Given the description of an element on the screen output the (x, y) to click on. 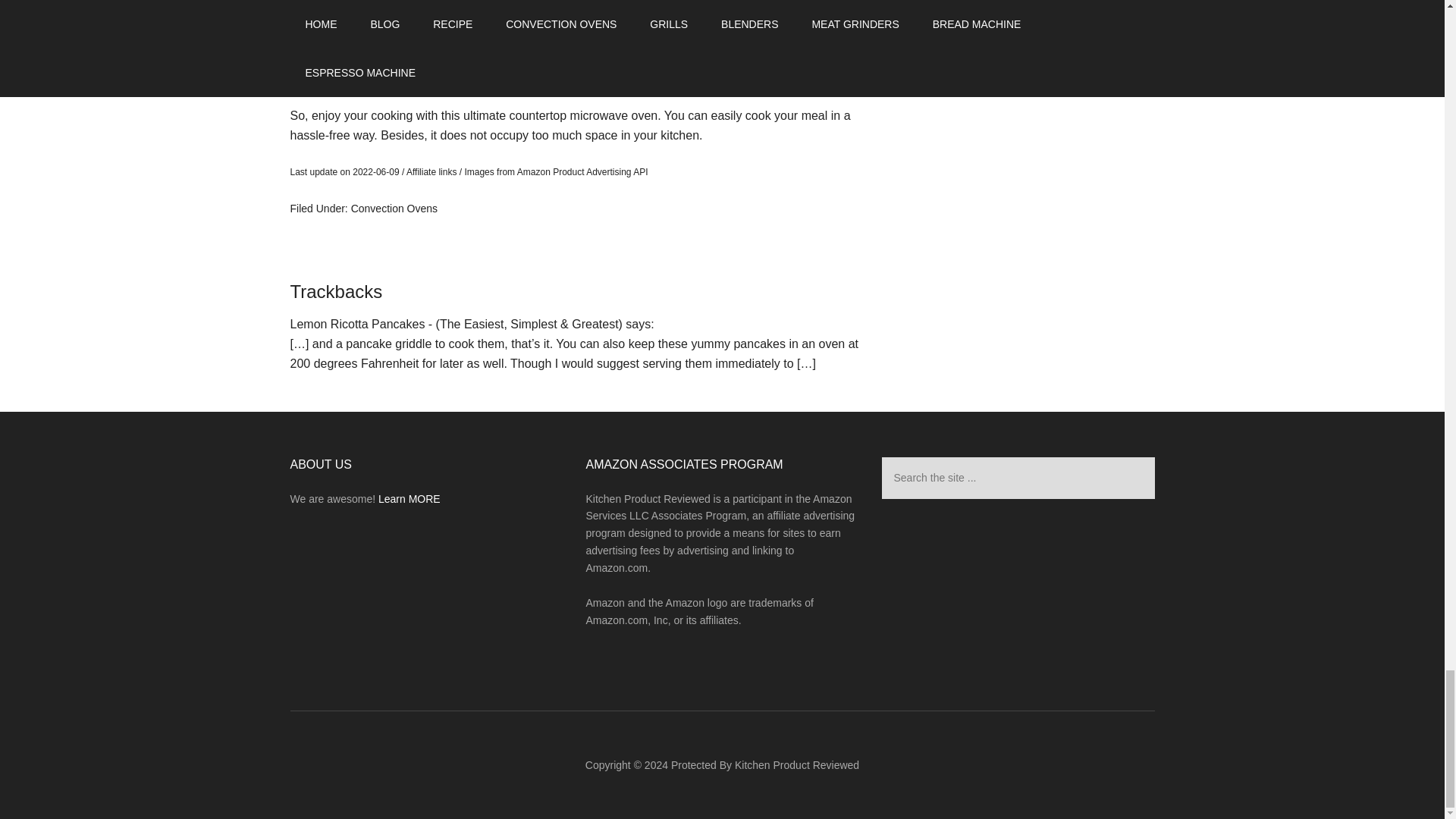
Convection Ovens (394, 208)
